Given the description of an element on the screen output the (x, y) to click on. 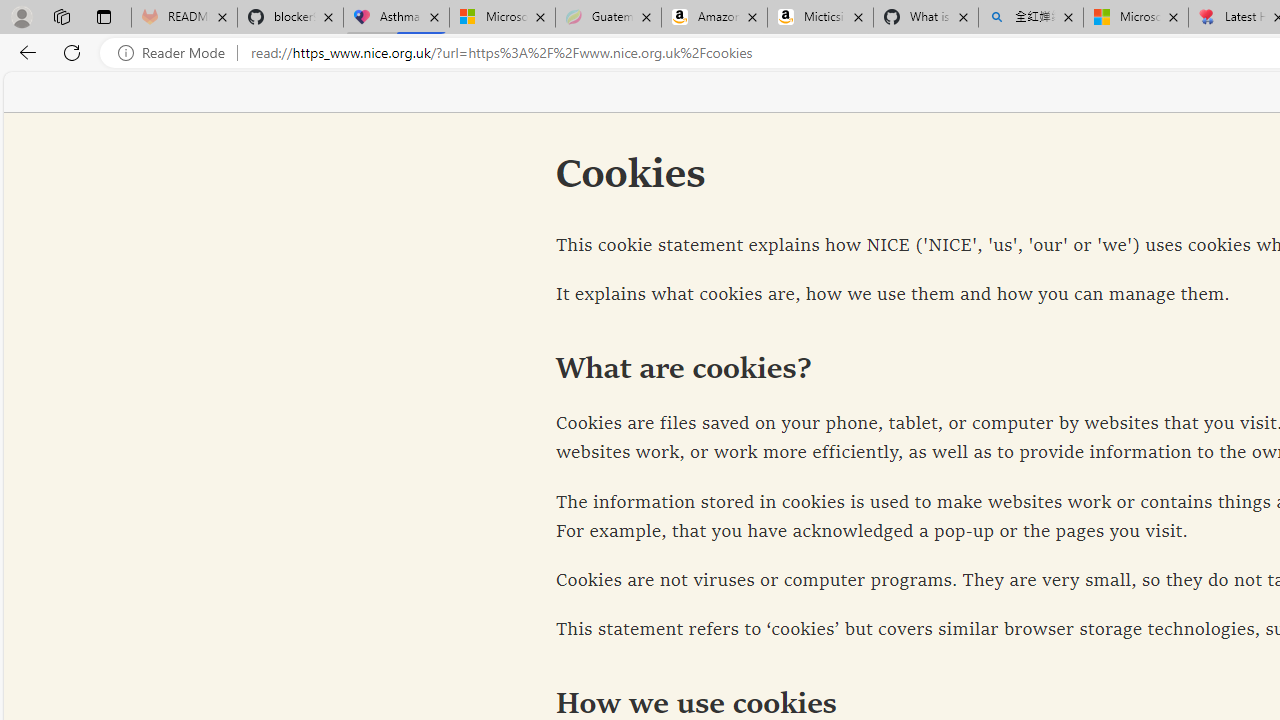
Reader Mode (177, 53)
